Given the description of an element on the screen output the (x, y) to click on. 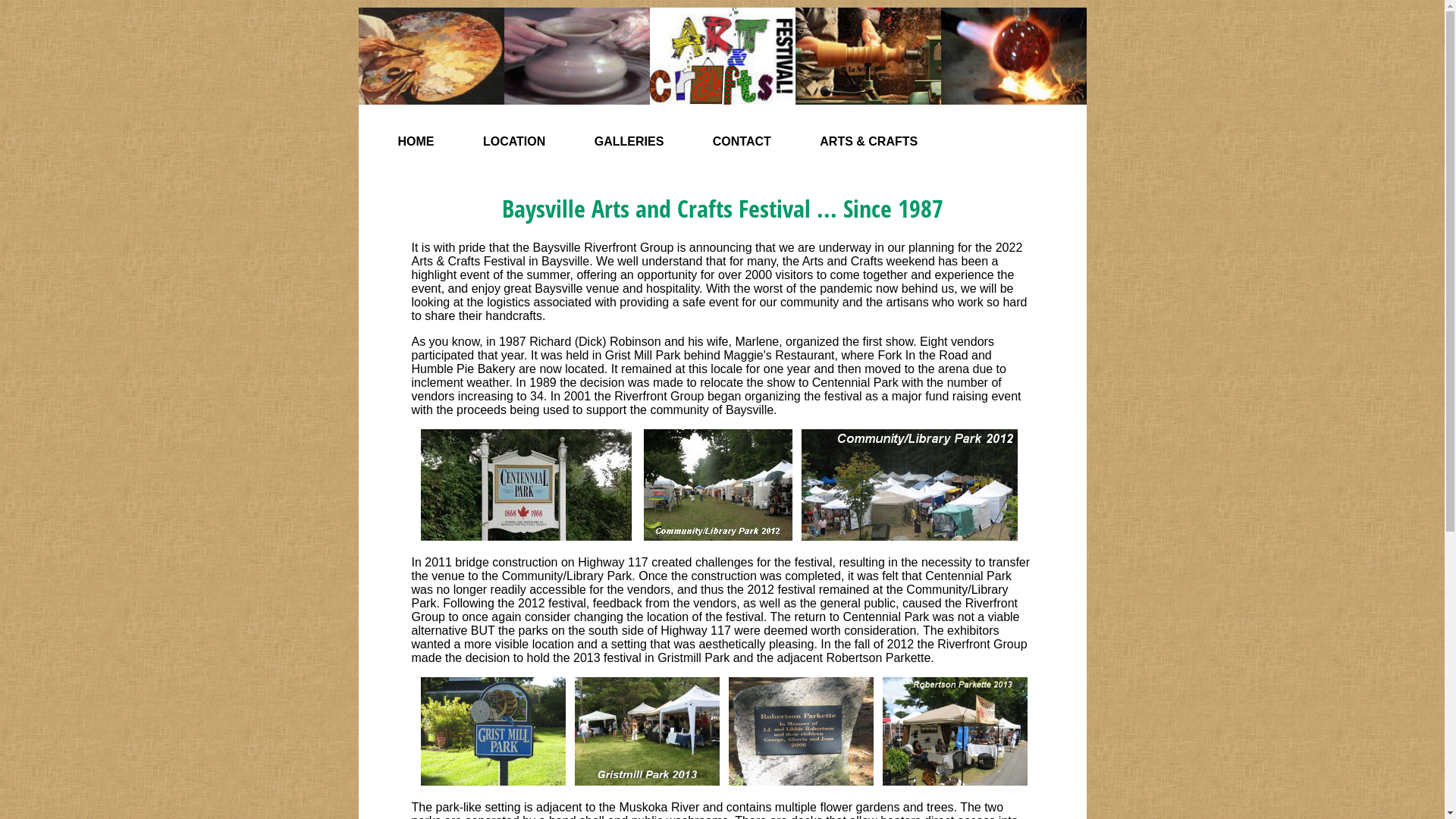
ARTS & CRAFTS Element type: text (868, 140)
GALLERIES Element type: text (629, 140)
CONTACT Element type: text (741, 140)
LOCATION Element type: text (514, 140)
HOME Element type: text (416, 140)
